Given the description of an element on the screen output the (x, y) to click on. 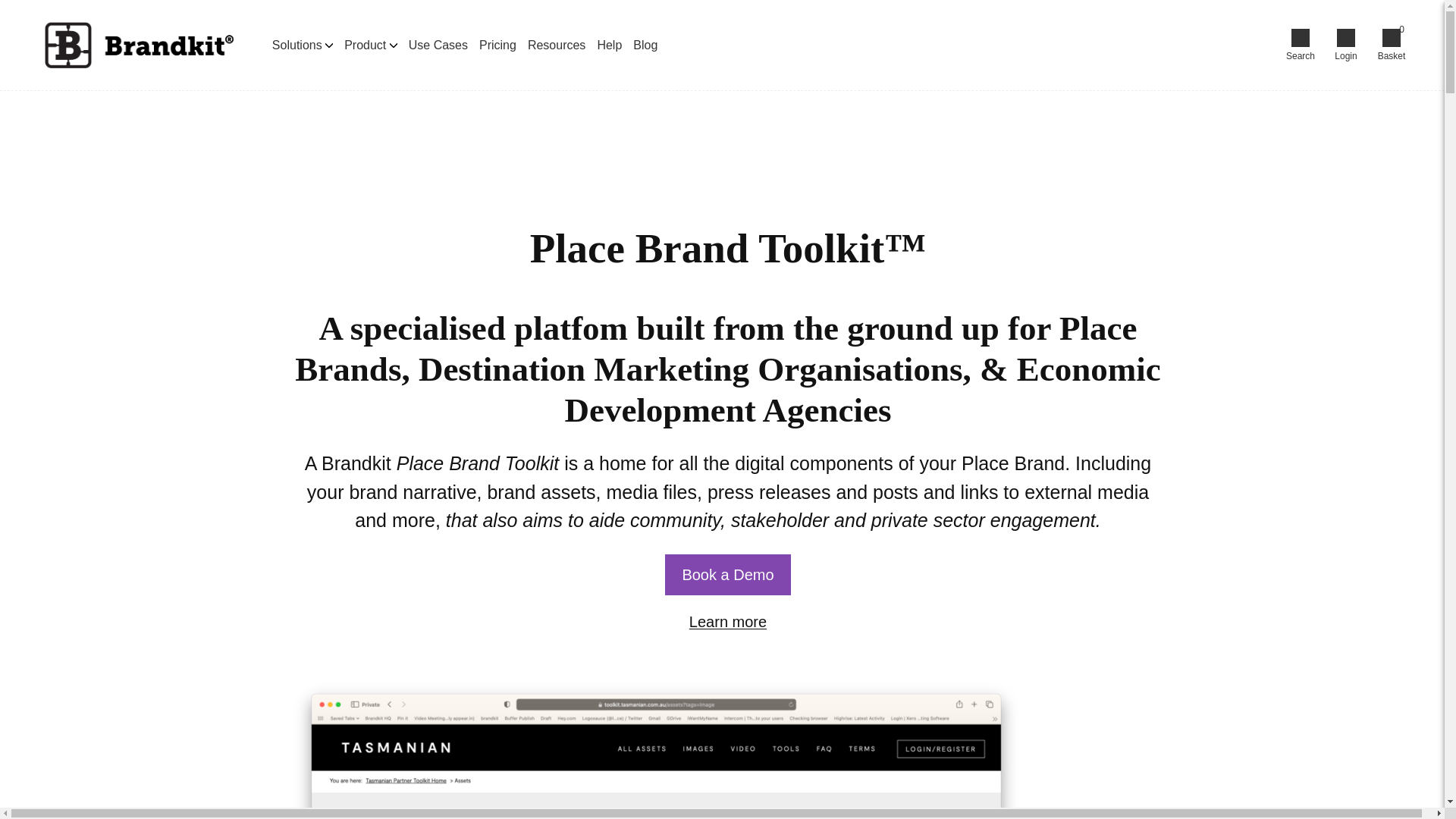
Learn more (727, 620)
Resources (556, 45)
Visit home page (135, 45)
Product (370, 44)
Help (608, 45)
Pricing (497, 45)
Use Cases (438, 45)
Solutions (302, 44)
Book a Demo (727, 573)
Blog (645, 45)
